Given the description of an element on the screen output the (x, y) to click on. 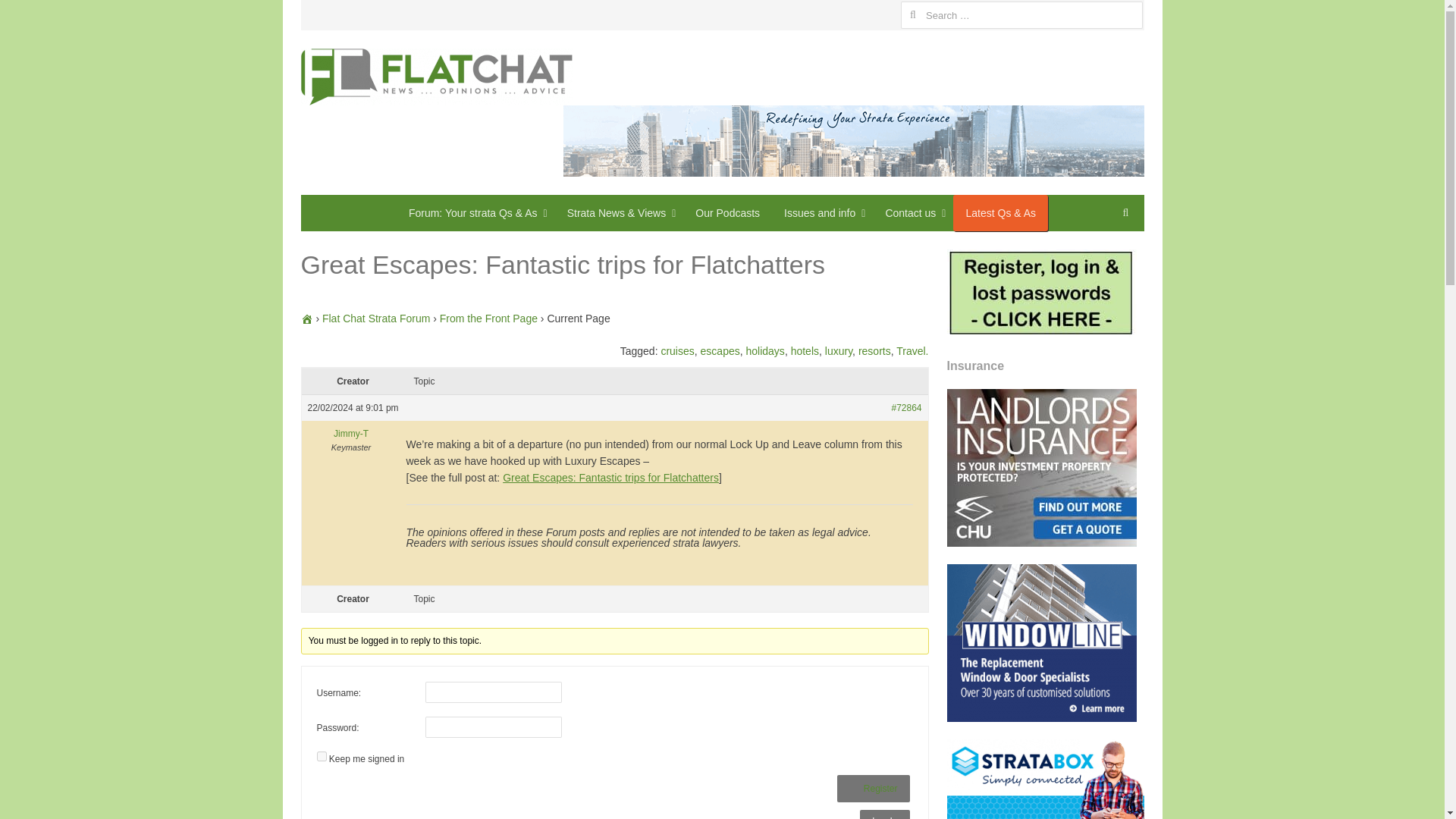
Search (27, 13)
FLAT CHAT (435, 76)
View Jimmy-T's profile (350, 433)
forever (321, 756)
